Given the description of an element on the screen output the (x, y) to click on. 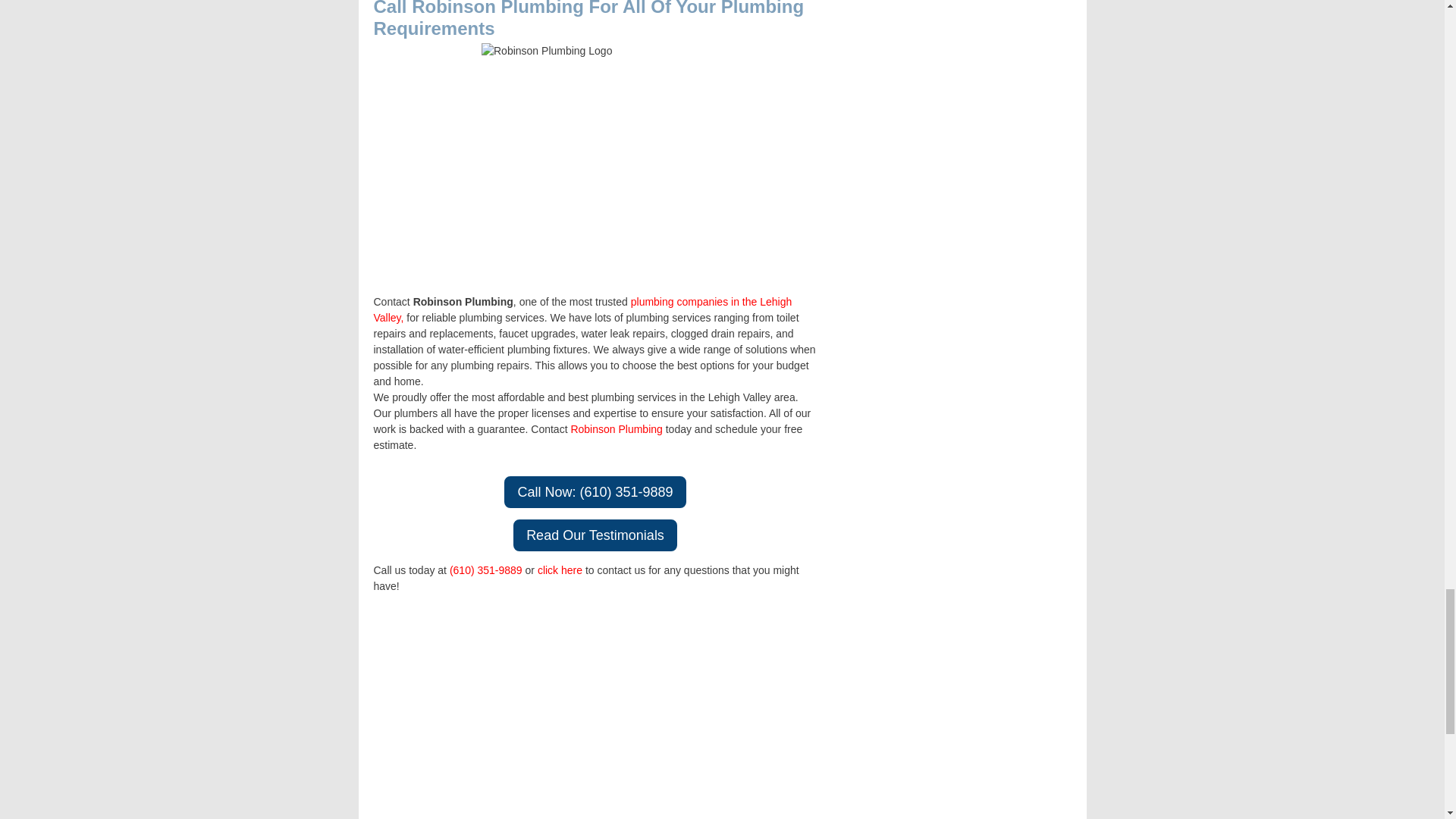
click here (559, 570)
Read Our Testimonials (595, 535)
Robinson Plumbing (616, 428)
plumbing companies in the Lehigh Valley, (582, 309)
